Given the description of an element on the screen output the (x, y) to click on. 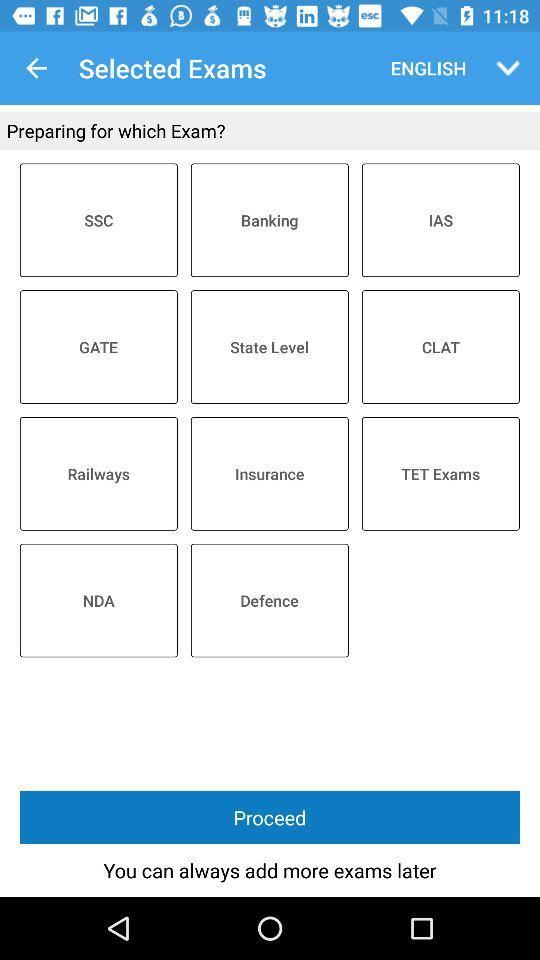
press the app to the left of the selected exams item (36, 68)
